Given the description of an element on the screen output the (x, y) to click on. 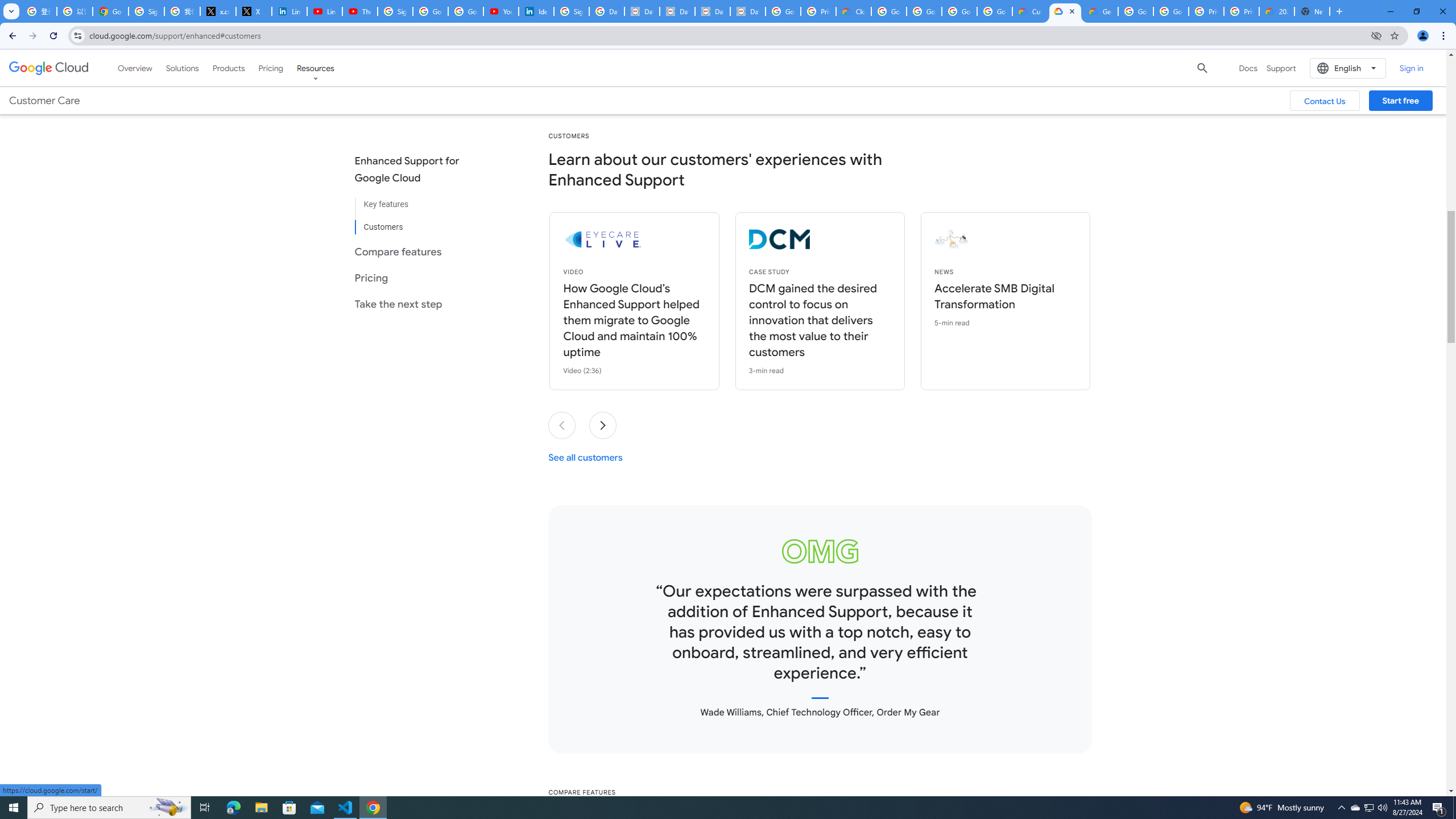
Docs (1248, 67)
X (253, 11)
Customers (416, 222)
Data Privacy Framework (747, 11)
Data Privacy Framework (641, 11)
Start free (1400, 100)
